Given the description of an element on the screen output the (x, y) to click on. 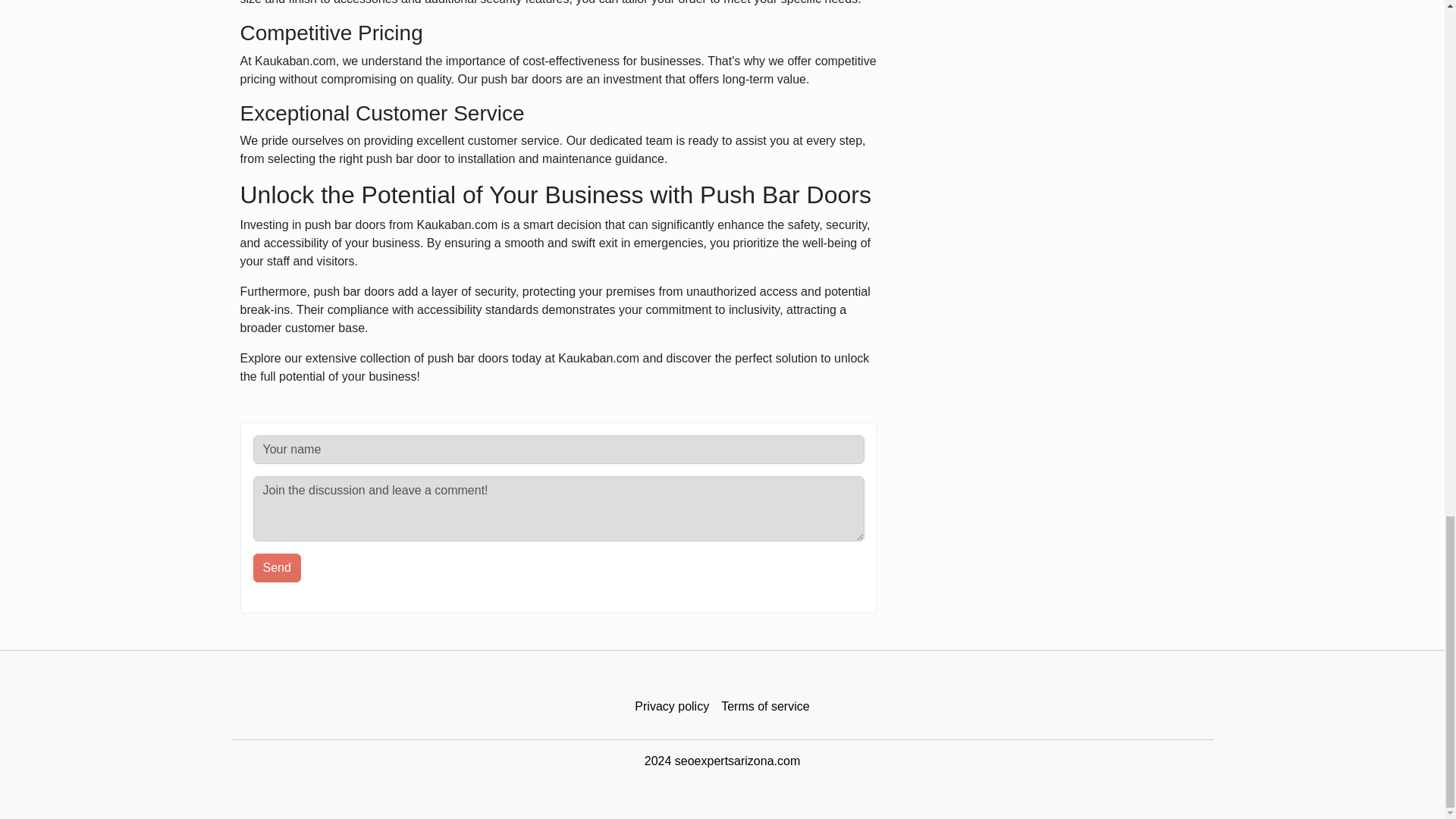
Send (277, 567)
Privacy policy (671, 707)
Terms of service (764, 707)
Send (277, 567)
